Given the description of an element on the screen output the (x, y) to click on. 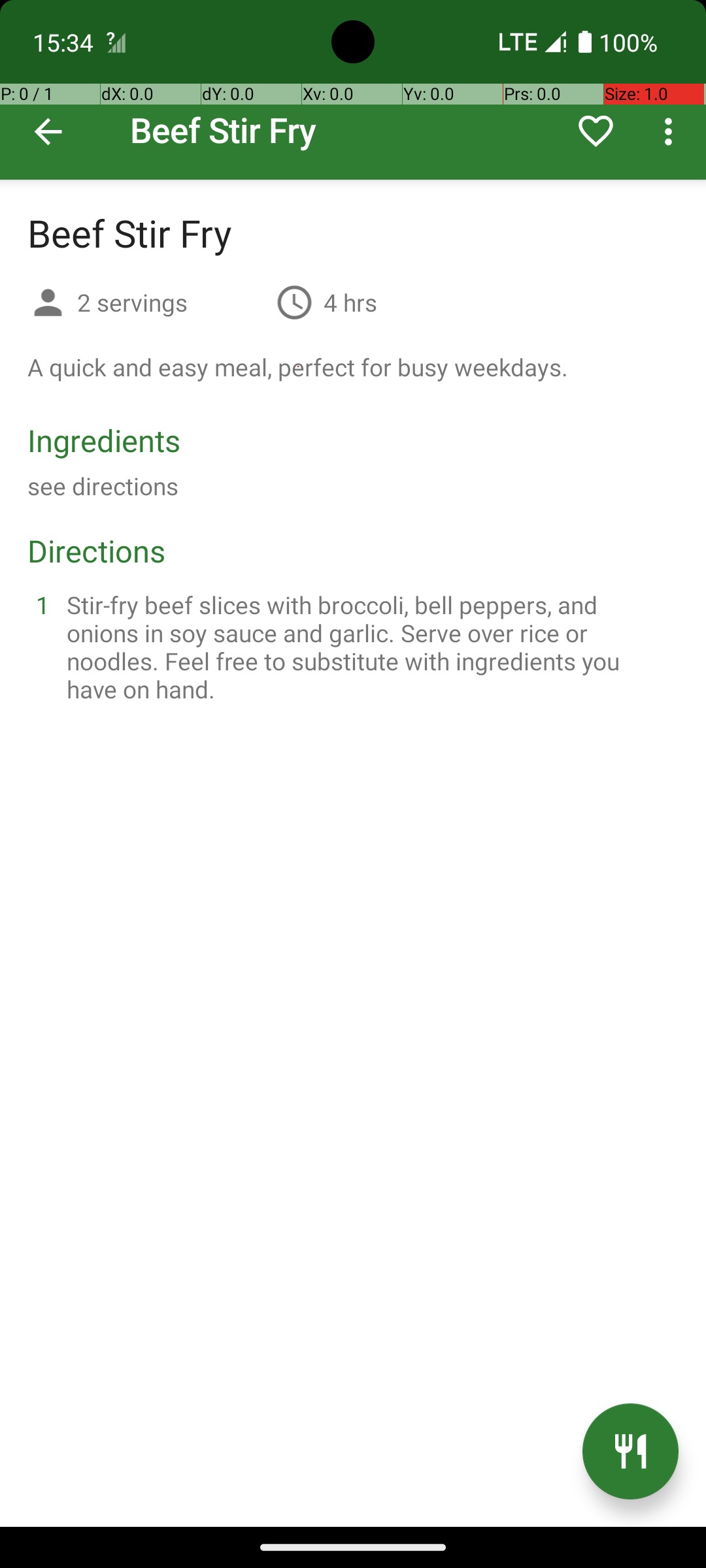
Stir-fry beef slices with broccoli, bell peppers, and onions in soy sauce and garlic. Serve over rice or noodles. Feel free to substitute with ingredients you have on hand. Element type: android.widget.TextView (368, 646)
